Given the description of an element on the screen output the (x, y) to click on. 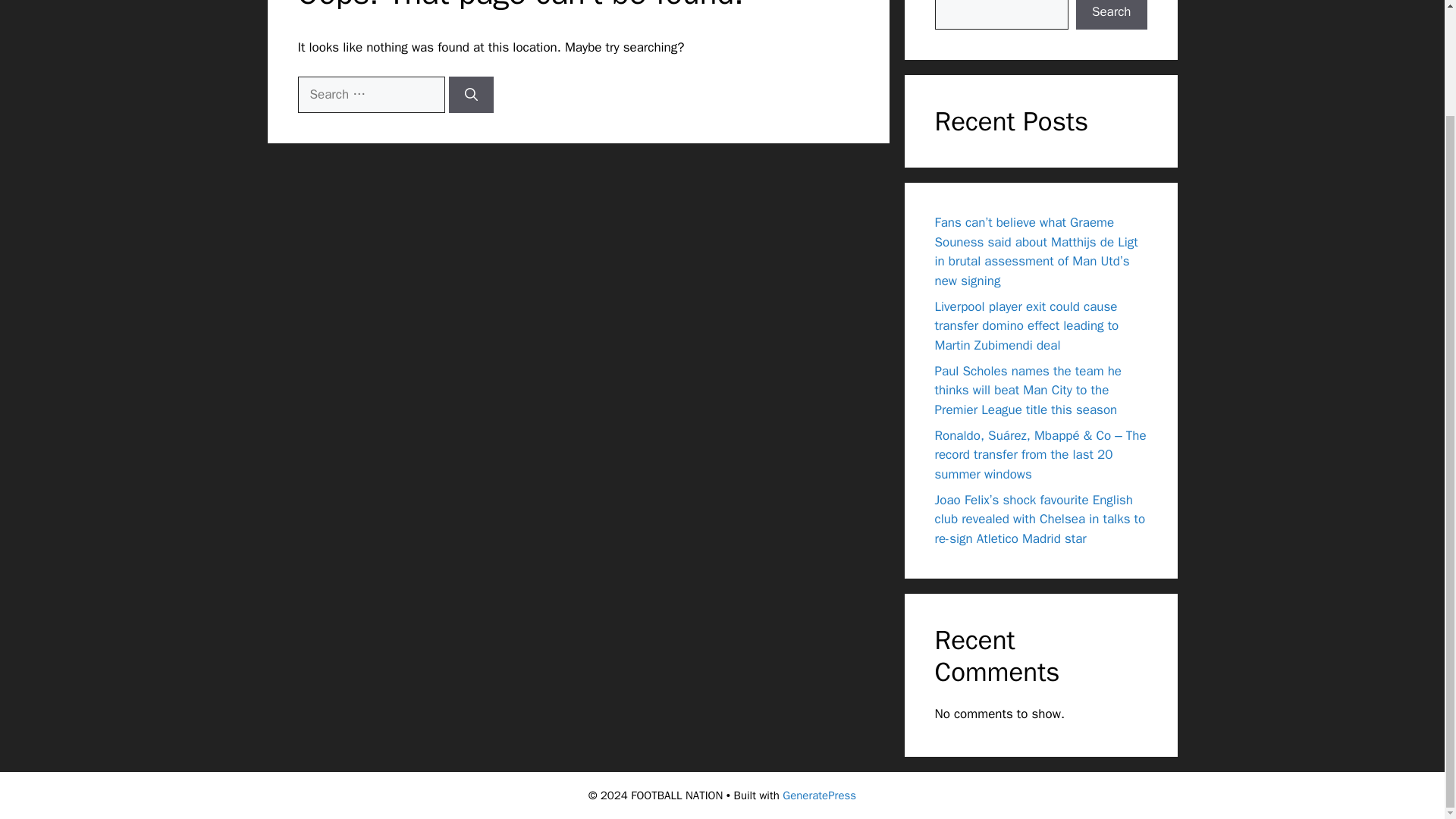
GeneratePress (819, 795)
Search for: (370, 94)
Search (1111, 15)
